Given the description of an element on the screen output the (x, y) to click on. 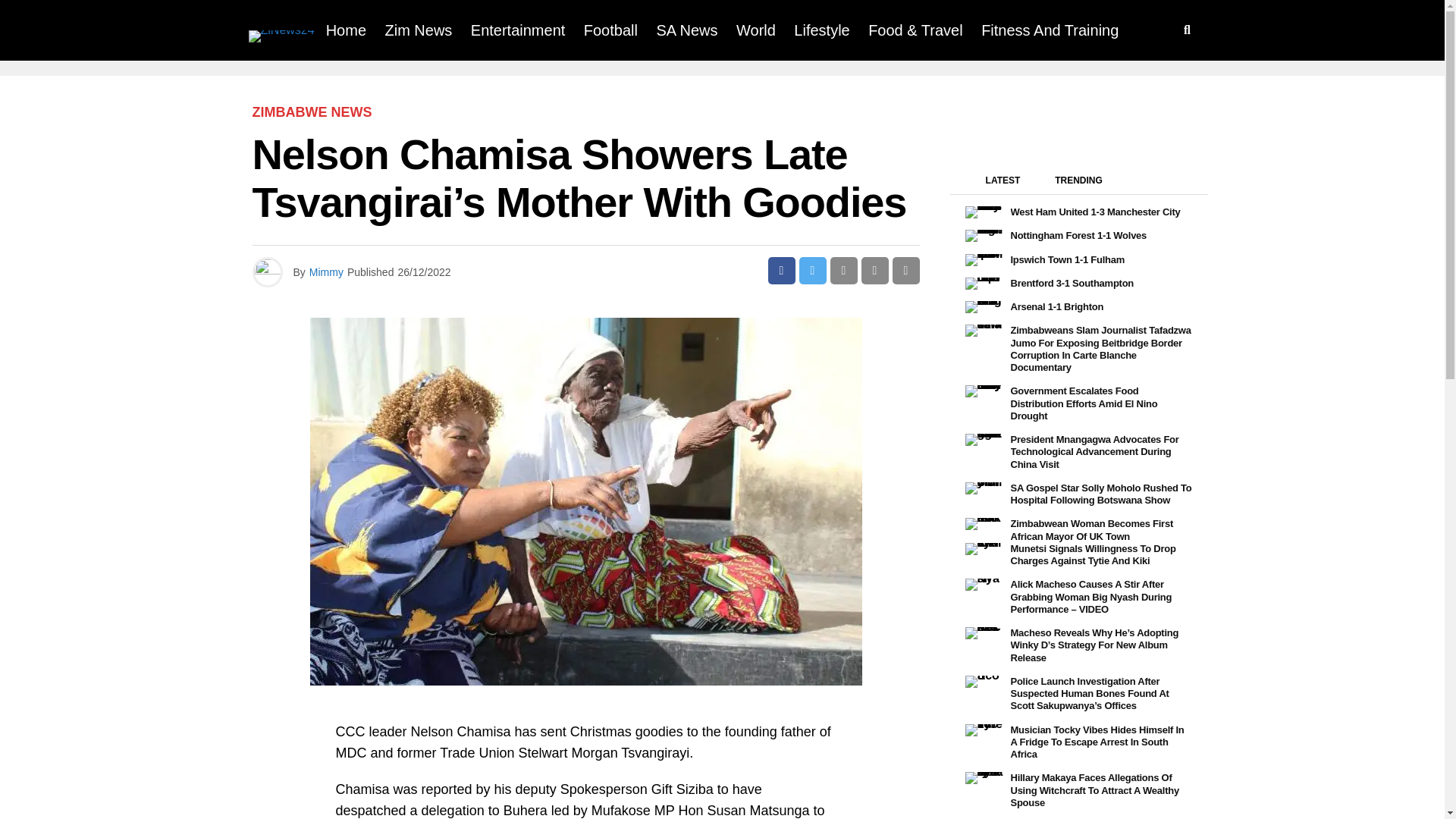
Zim News (418, 30)
World (756, 30)
SA News (686, 30)
Lifestyle (821, 30)
LATEST (1002, 184)
ZIMBABWE NEWS (311, 112)
Tweet This Post (813, 270)
Share on Facebook (780, 270)
Football (610, 30)
Home (346, 30)
